Given the description of an element on the screen output the (x, y) to click on. 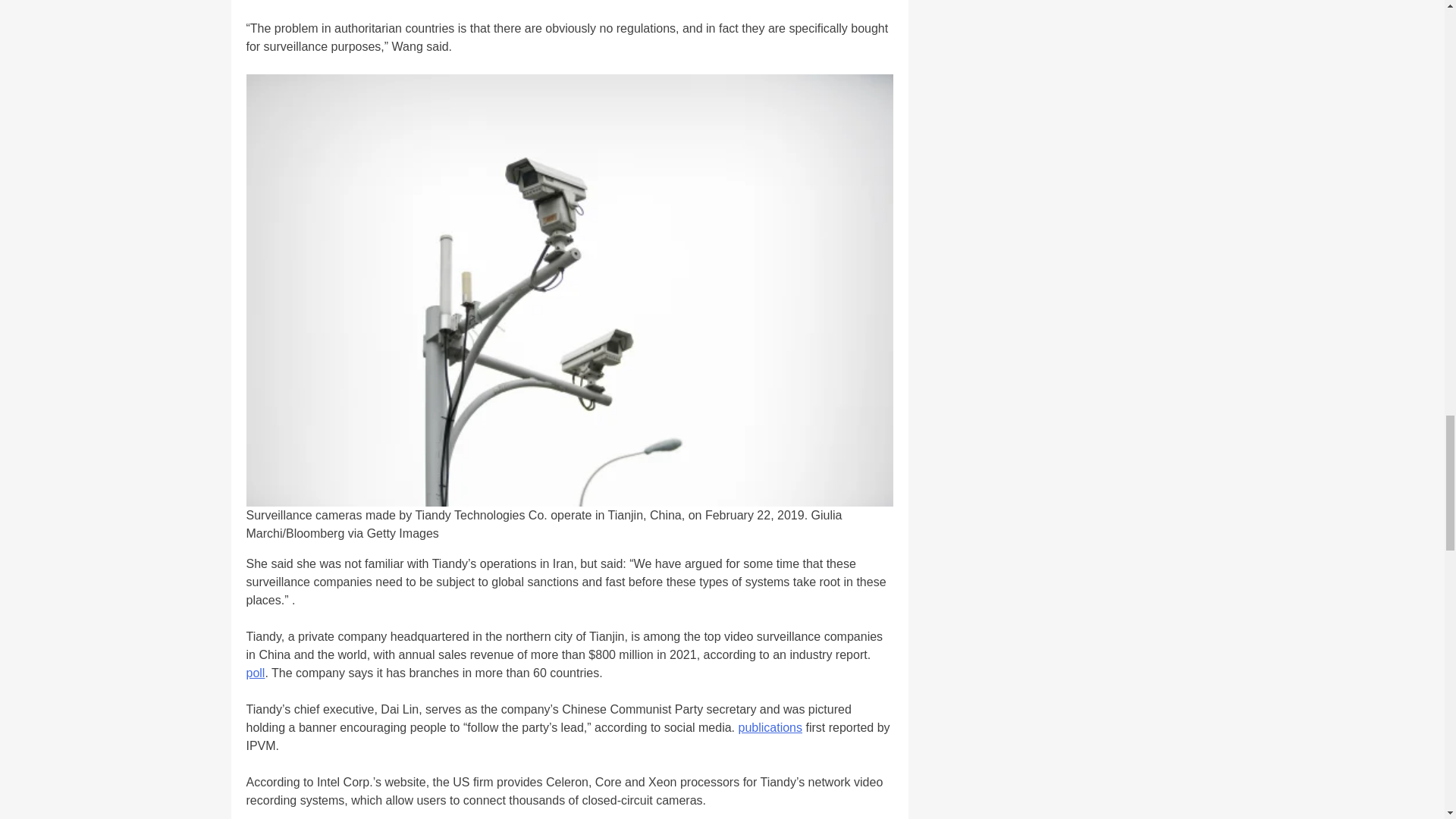
publications (770, 727)
poll (255, 672)
